Given the description of an element on the screen output the (x, y) to click on. 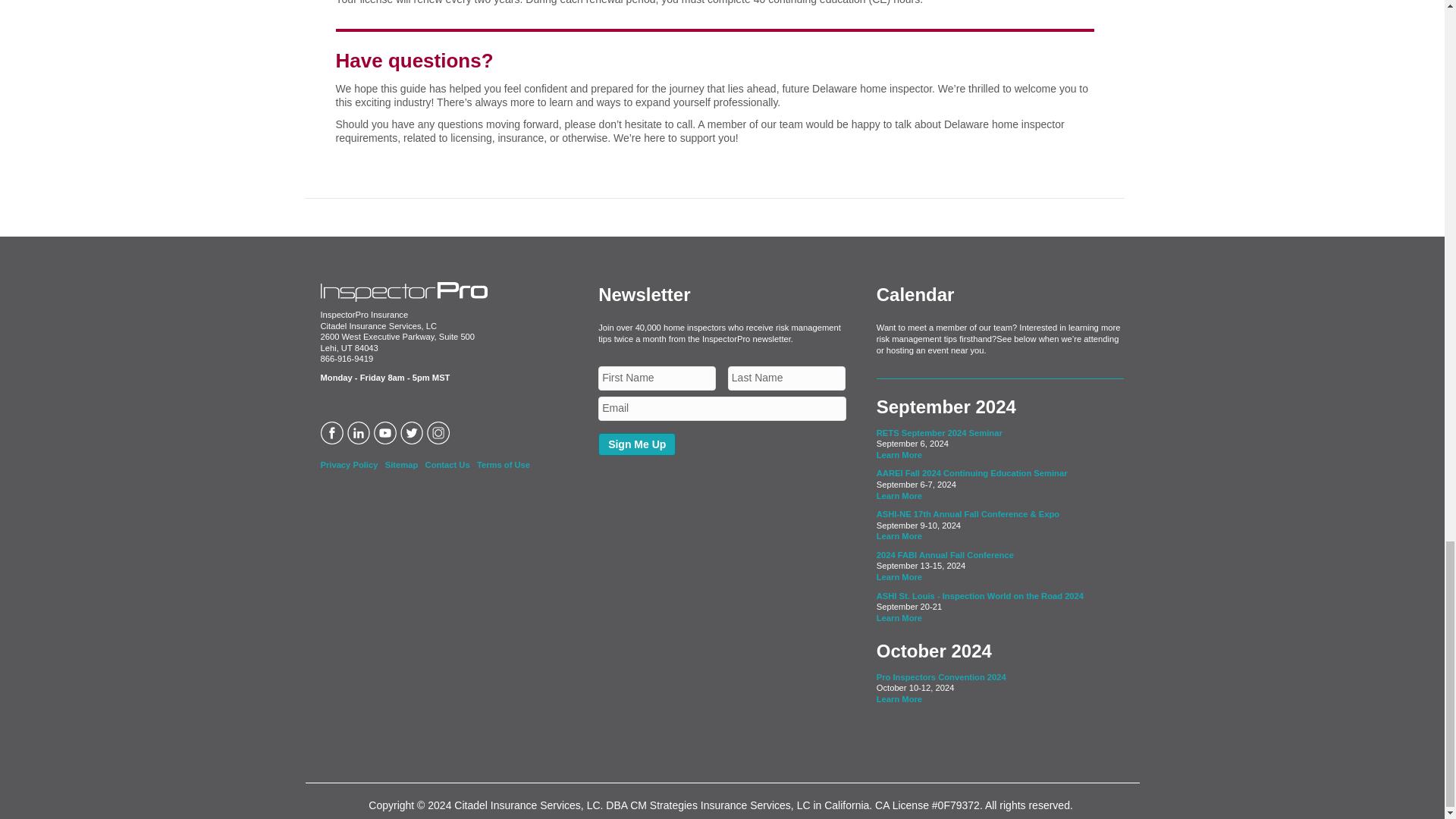
Sign Me Up (636, 444)
footer-logo (403, 291)
Instagram (439, 431)
Facebook (333, 431)
YouTube (385, 431)
LinkedIn (360, 431)
Twitter (413, 431)
